Given the description of an element on the screen output the (x, y) to click on. 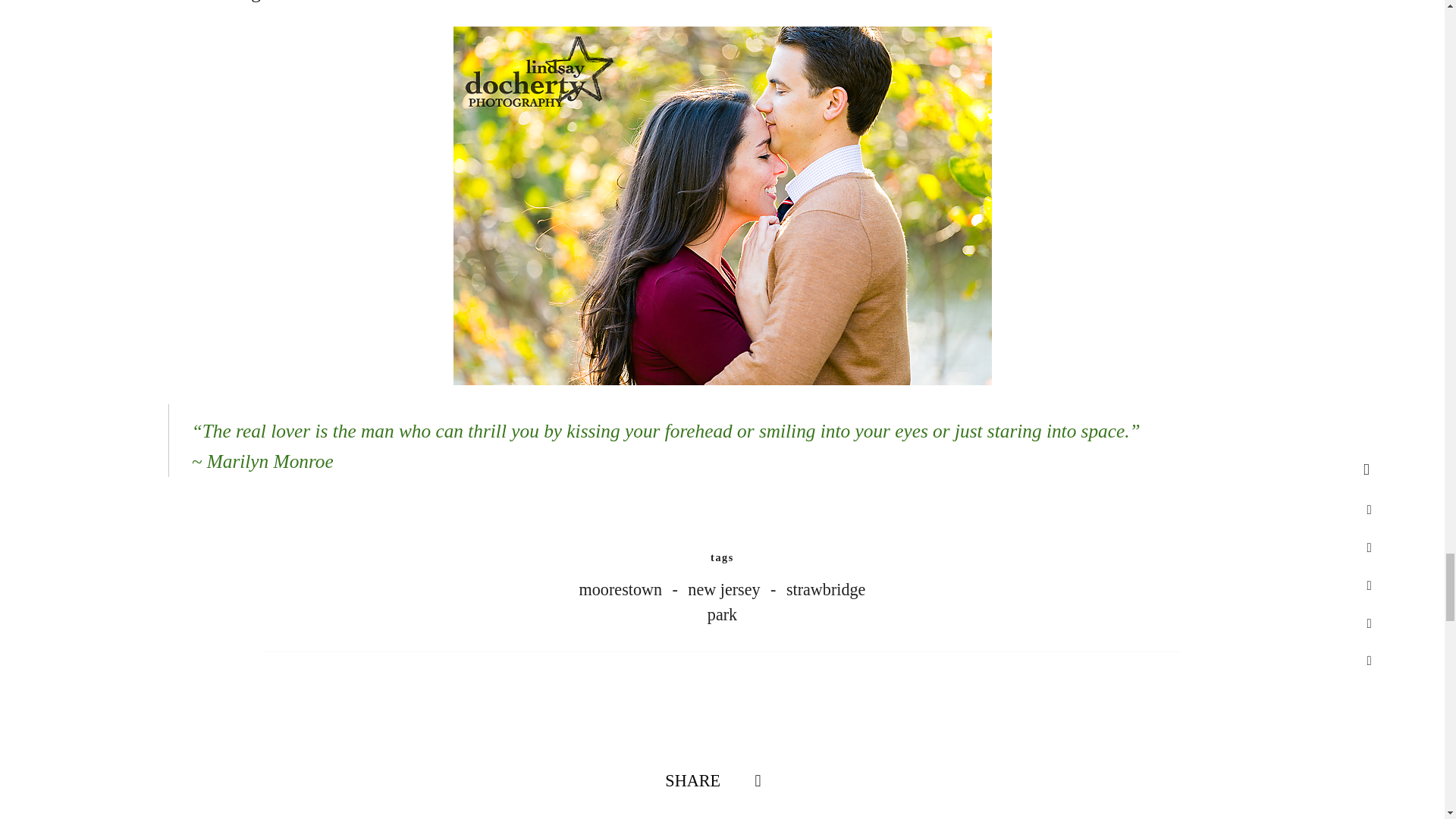
new jersey (734, 588)
moorestown (631, 588)
strawbridge park (786, 601)
